Given the description of an element on the screen output the (x, y) to click on. 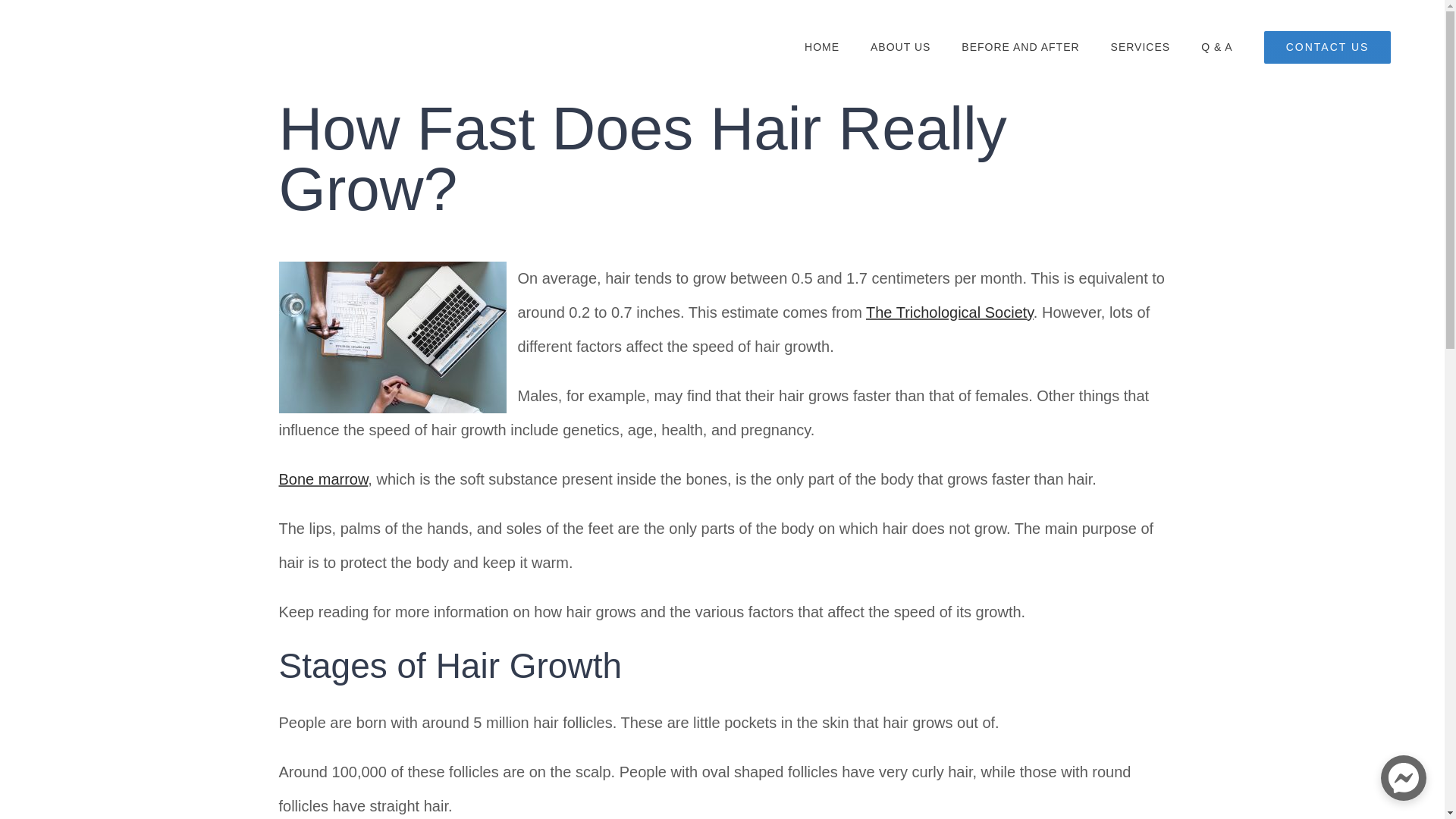
BEFORE AND AFTER (1019, 46)
CONTACT US (1327, 46)
ABOUT US (900, 46)
The Trichological Society (949, 312)
Bone marrow (323, 478)
SERVICES (1140, 46)
